Given the description of an element on the screen output the (x, y) to click on. 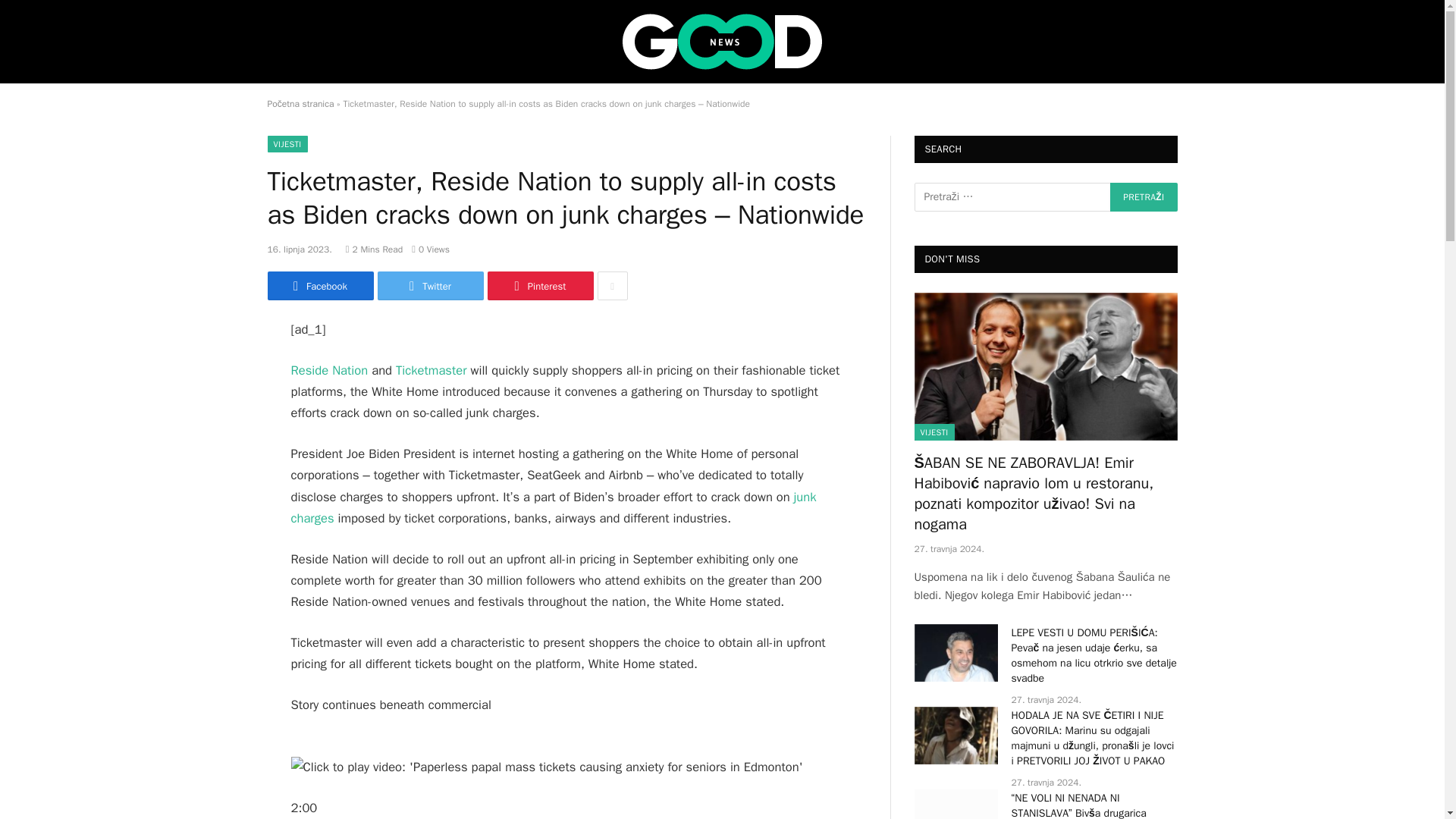
Facebook (319, 285)
0 Article Views (430, 249)
Vijesti Live (722, 40)
Twitter (430, 285)
Pinterest (539, 285)
Show More Social Sharing (611, 285)
Share on Facebook (319, 285)
Share on Pinterest (539, 285)
VIJESTI (286, 143)
